Given the description of an element on the screen output the (x, y) to click on. 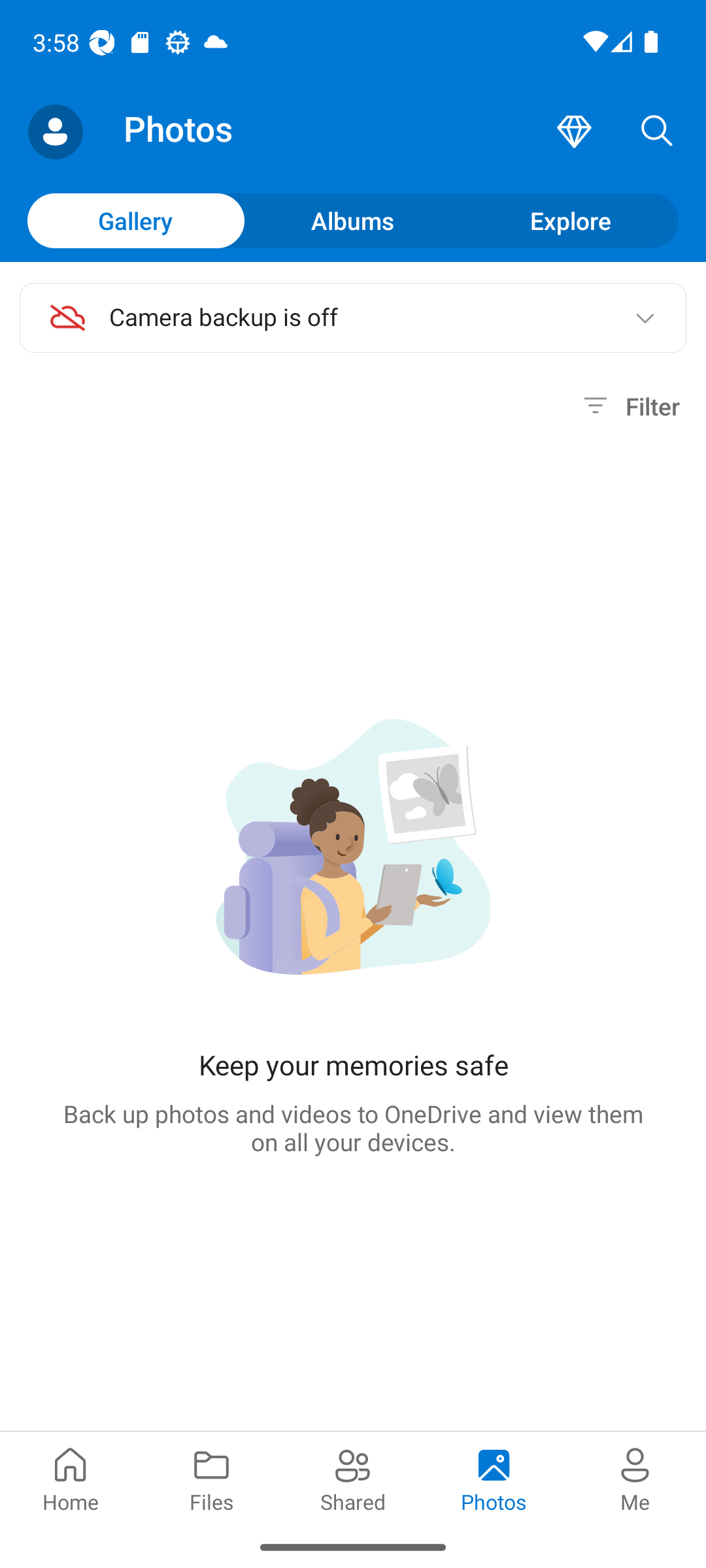
Account switcher (55, 131)
Premium button (574, 131)
Search button (656, 131)
Albums (352, 219)
Explore (569, 219)
Expand camera status banner (645, 318)
Filter (628, 405)
Home pivot Home (70, 1478)
Files pivot Files (211, 1478)
Shared pivot Shared (352, 1478)
Me pivot Me (635, 1478)
